Given the description of an element on the screen output the (x, y) to click on. 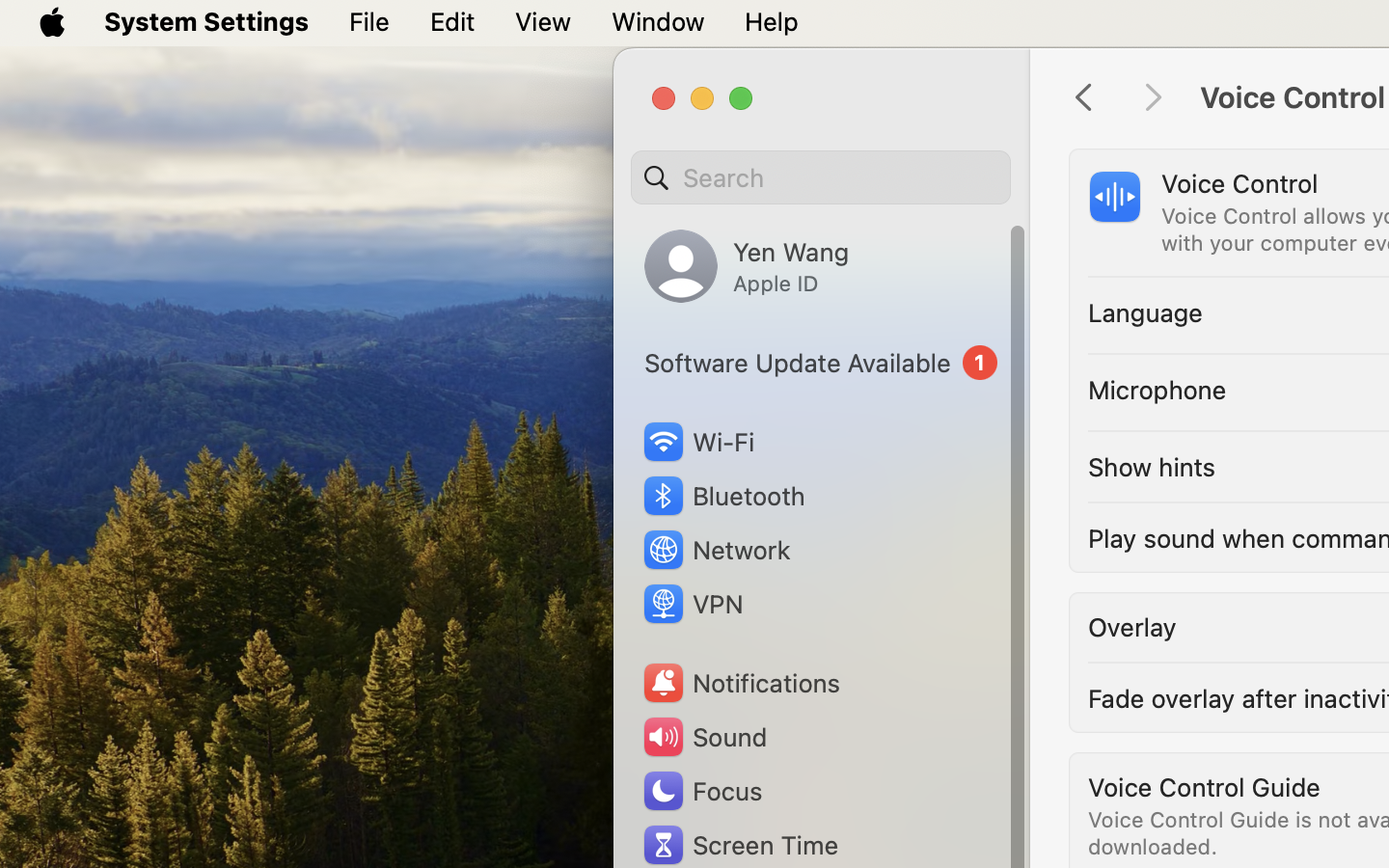
Language Element type: AXStaticText (1145, 312)
Bluetooth Element type: AXStaticText (723, 495)
Network Element type: AXStaticText (715, 549)
Overlay Element type: AXStaticText (1132, 626)
Wi‑Fi Element type: AXStaticText (697, 441)
